Given the description of an element on the screen output the (x, y) to click on. 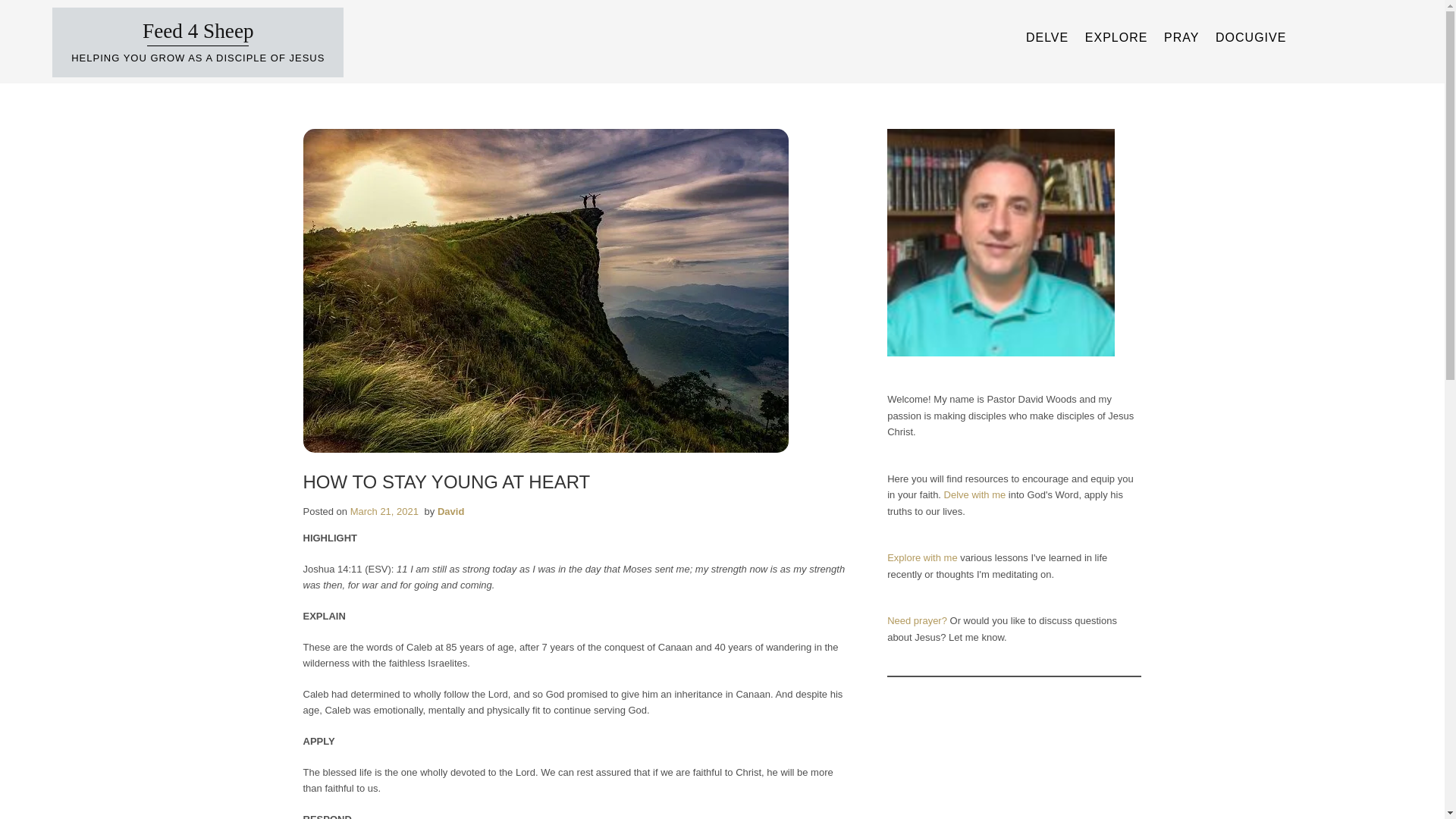
PRAY (1181, 37)
Explore with me (921, 557)
EXPLORE (1116, 37)
Feed 4 Sheep (197, 30)
Delve with me (974, 494)
David (451, 511)
Need prayer? (916, 620)
DELVE (1047, 37)
March 21, 2021 (384, 511)
DOCUGIVE (1250, 37)
